Given the description of an element on the screen output the (x, y) to click on. 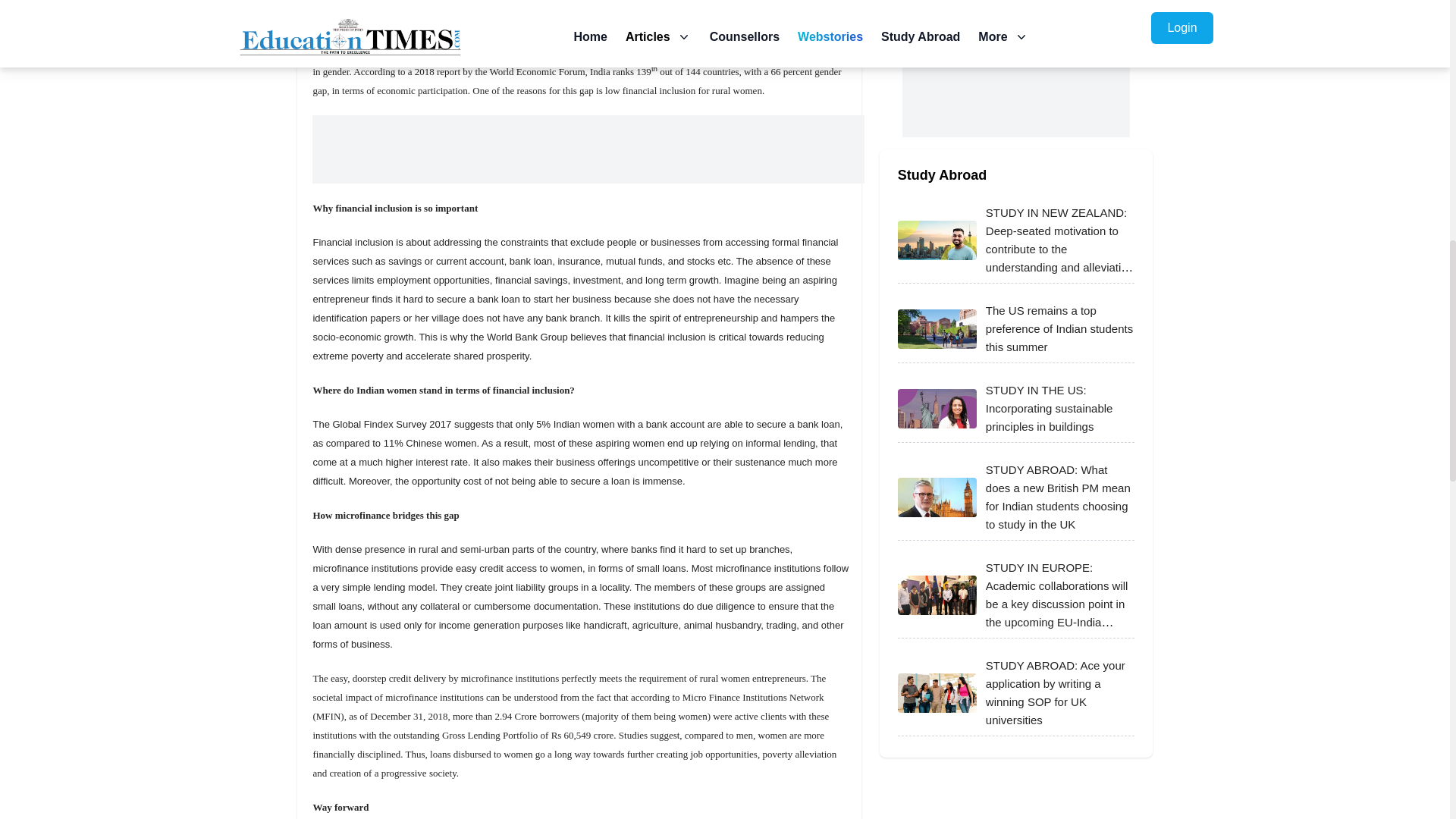
3rd party ad content (1015, 68)
3rd party ad content (588, 149)
